Given the description of an element on the screen output the (x, y) to click on. 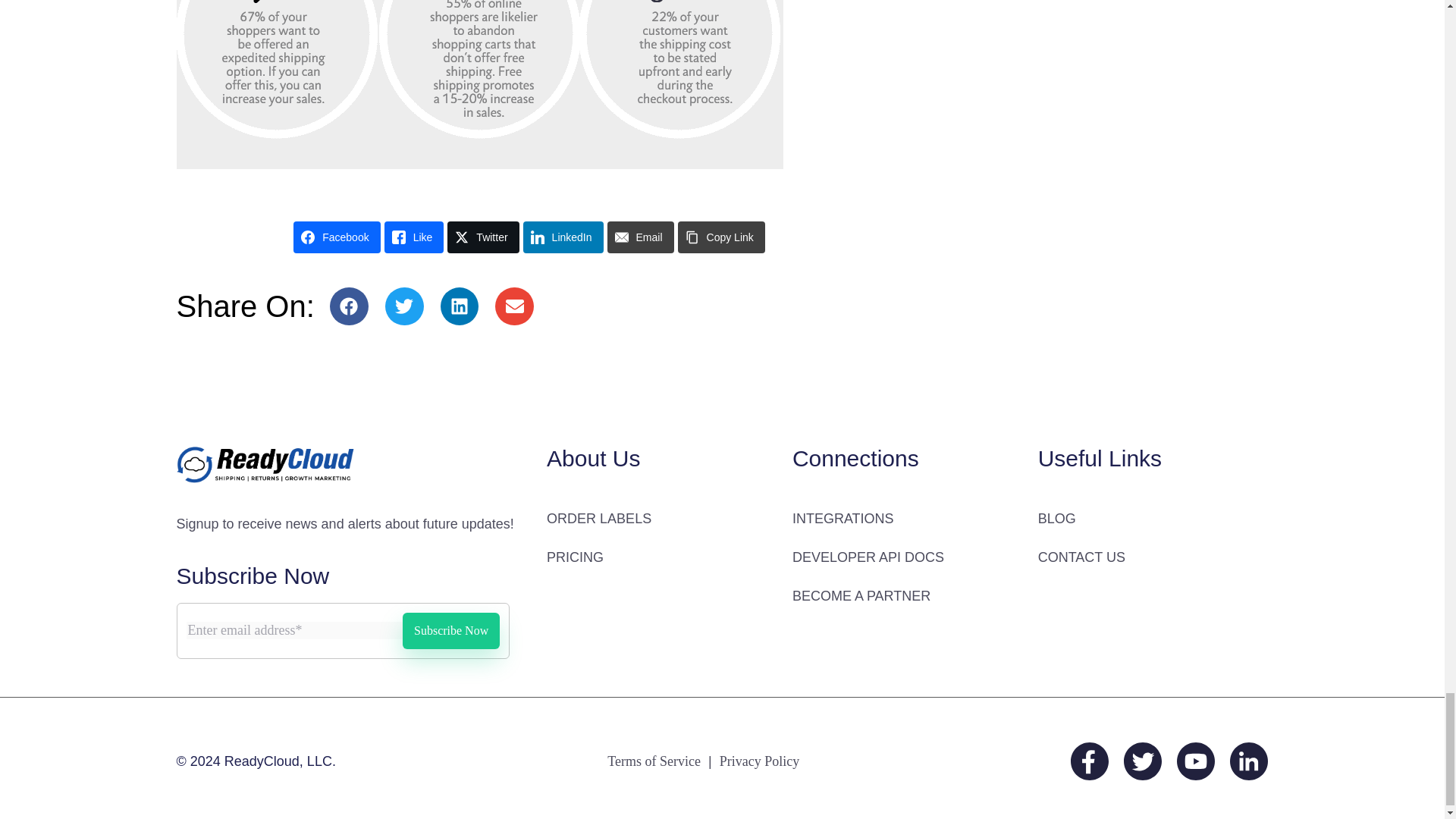
Subscribe Now (451, 630)
Share on LinkedIn (563, 237)
Share on Like (414, 237)
Share on Facebook (337, 237)
Share on Copy Link (721, 237)
Share on Twitter (482, 237)
Share on Email (640, 237)
